Given the description of an element on the screen output the (x, y) to click on. 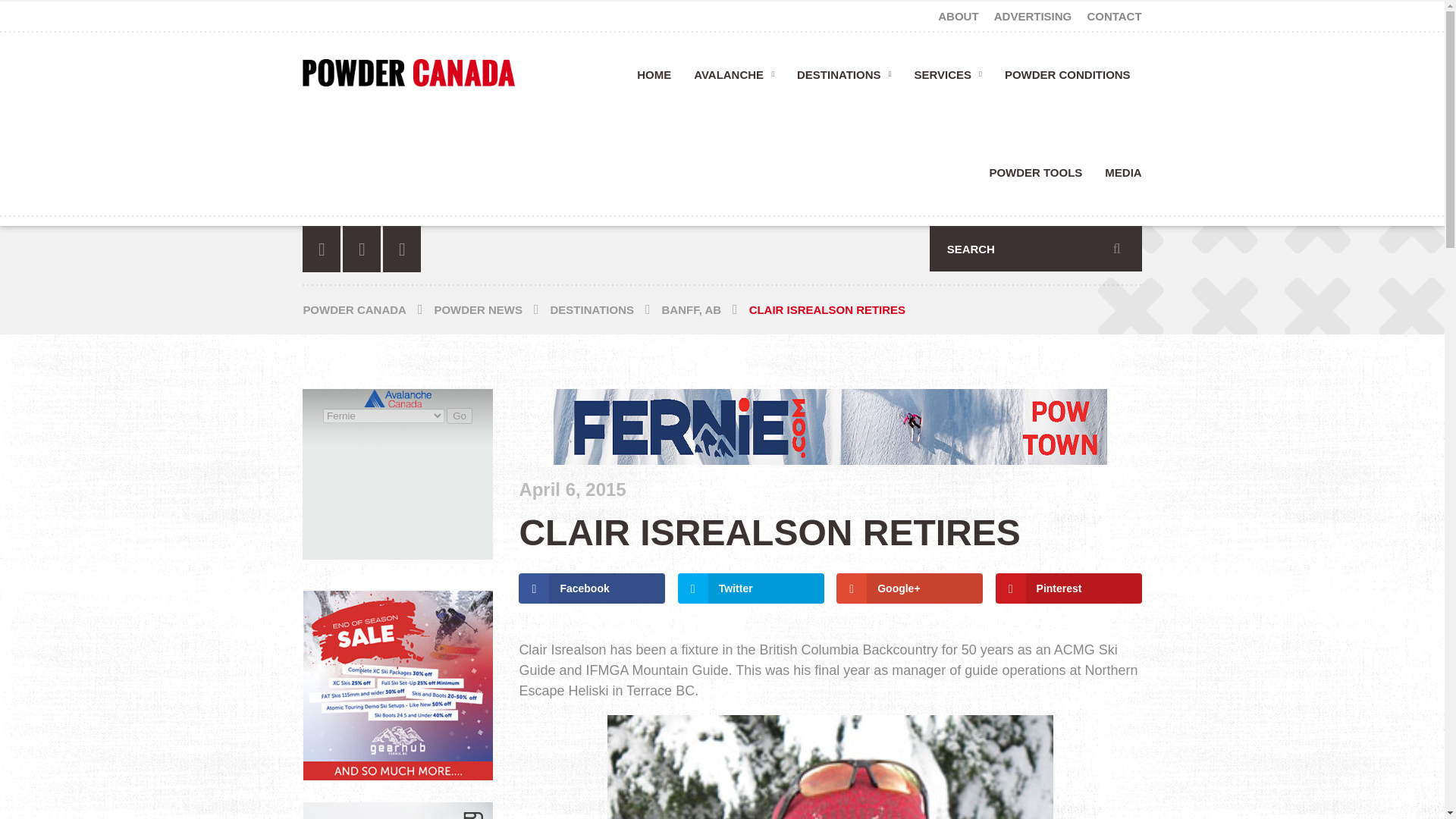
POWDER TOOLS (1034, 177)
AVALANCHE (734, 79)
SERVICES (947, 79)
Clair Isrealson (829, 766)
Go to Powder News. (491, 309)
Go to the Destinations Category archives. (606, 309)
DESTINATIONS (844, 79)
Go to the Banff, AB Category archives. (705, 309)
ABOUT (960, 15)
Go to Powder Canada. (367, 309)
